Given the description of an element on the screen output the (x, y) to click on. 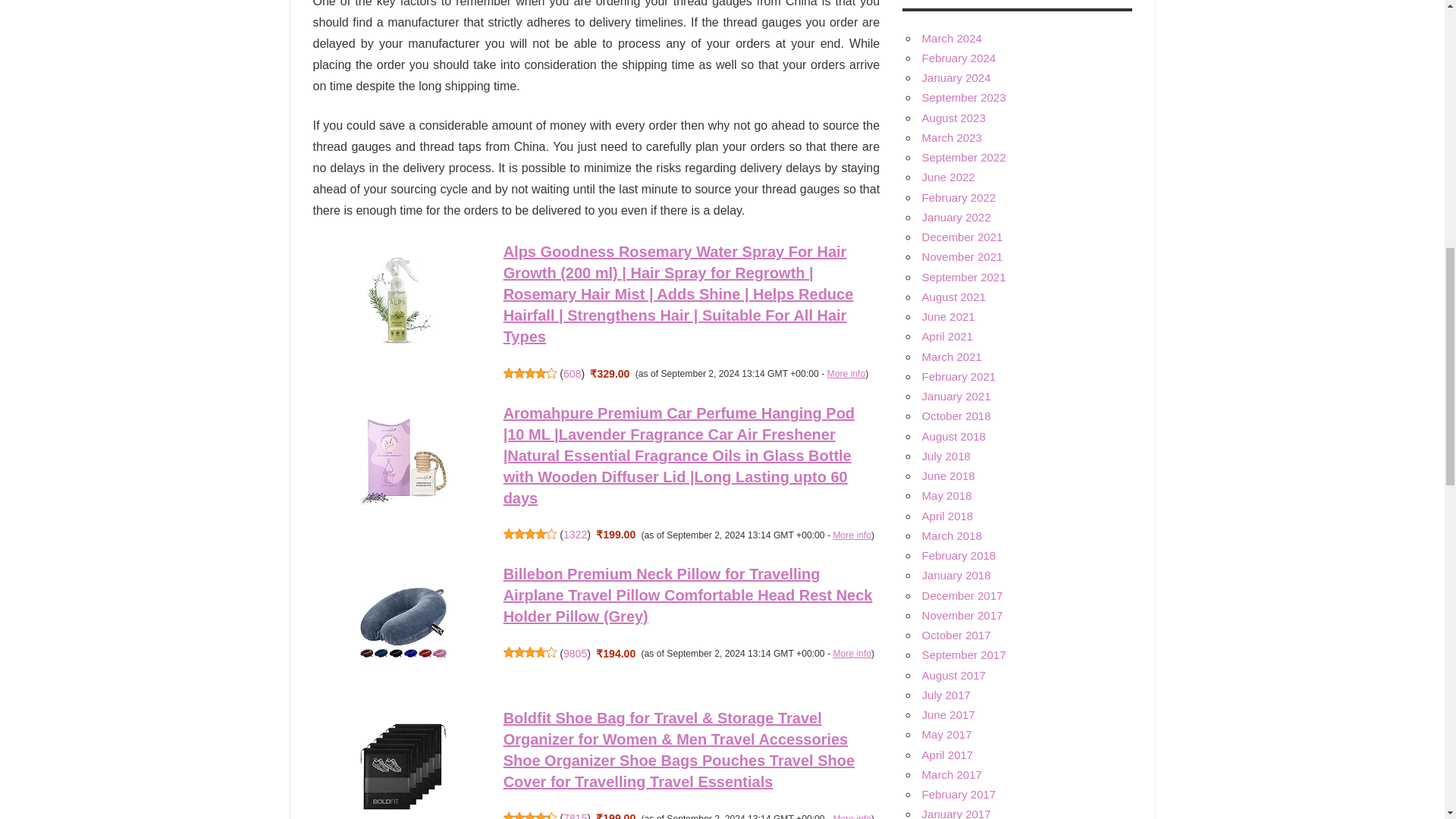
608 (571, 373)
More info (851, 534)
9805 (574, 653)
More info (846, 373)
7815 (574, 815)
More info (851, 653)
1322 (574, 534)
More info (851, 816)
